Given the description of an element on the screen output the (x, y) to click on. 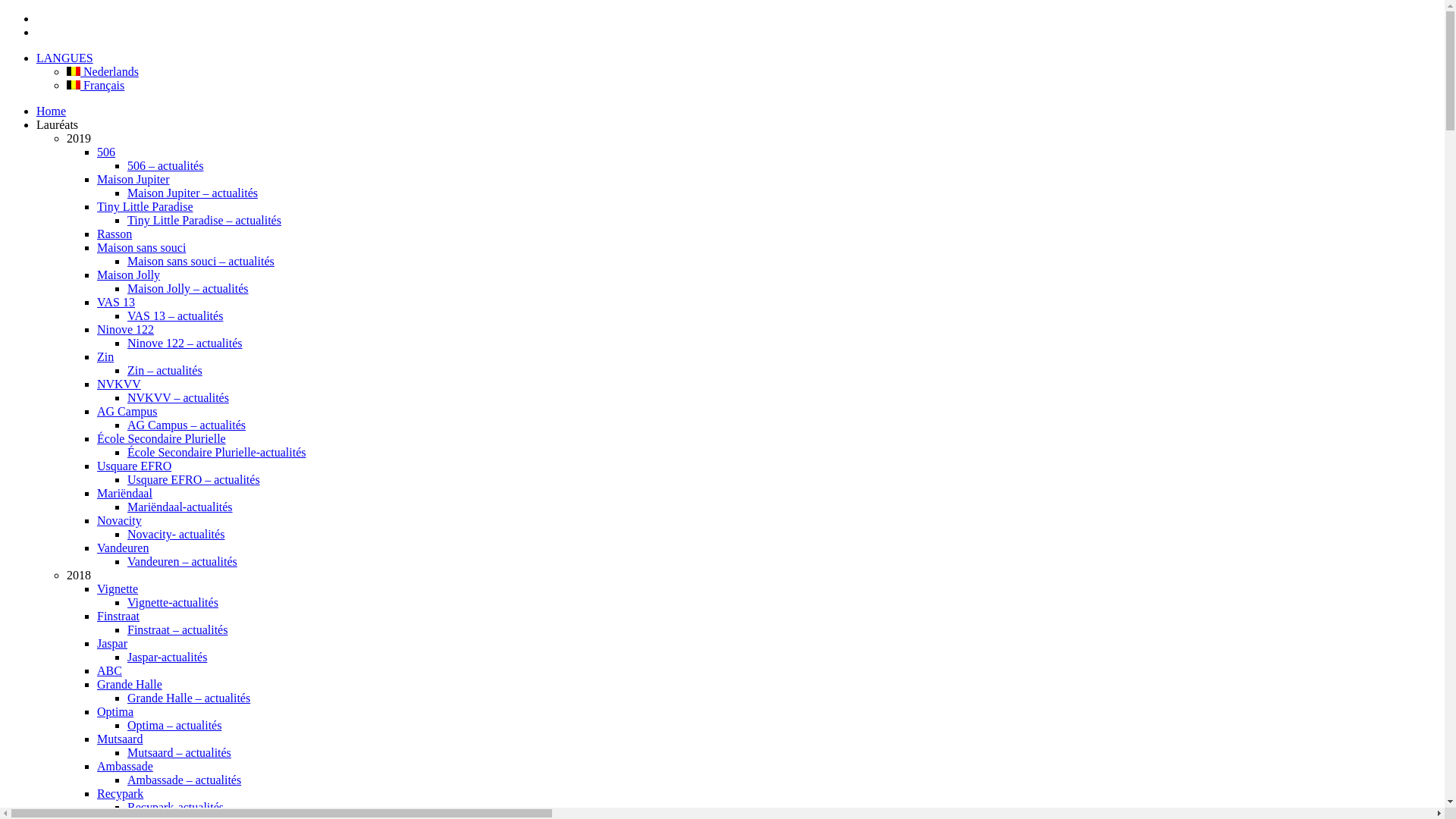
VAS 13 Element type: text (115, 301)
AG Campus Element type: text (127, 410)
Maison Jolly Element type: text (128, 274)
Nederlands Element type: text (102, 71)
Optima Element type: text (115, 711)
ABC Element type: text (109, 670)
506 Element type: text (106, 151)
Maison Jupiter Element type: text (133, 178)
NVKVV Element type: text (119, 383)
Mutsaard Element type: text (119, 738)
Recypark Element type: text (120, 793)
Rasson Element type: text (114, 233)
Usquare EFRO Element type: text (134, 465)
Ambassade Element type: text (125, 765)
2019 Element type: text (78, 137)
Vignette Element type: text (117, 588)
Jaspar Element type: text (112, 643)
Tiny Little Paradise Element type: text (145, 206)
Novacity Element type: text (119, 520)
Vandeuren Element type: text (122, 547)
Ninove 122 Element type: text (125, 329)
Finstraat Element type: text (118, 615)
LANGUES Element type: text (64, 57)
Home Element type: text (50, 110)
Grande Halle Element type: text (129, 683)
Maison sans souci Element type: text (141, 247)
Zin Element type: text (105, 356)
2018 Element type: text (78, 574)
